Given the description of an element on the screen output the (x, y) to click on. 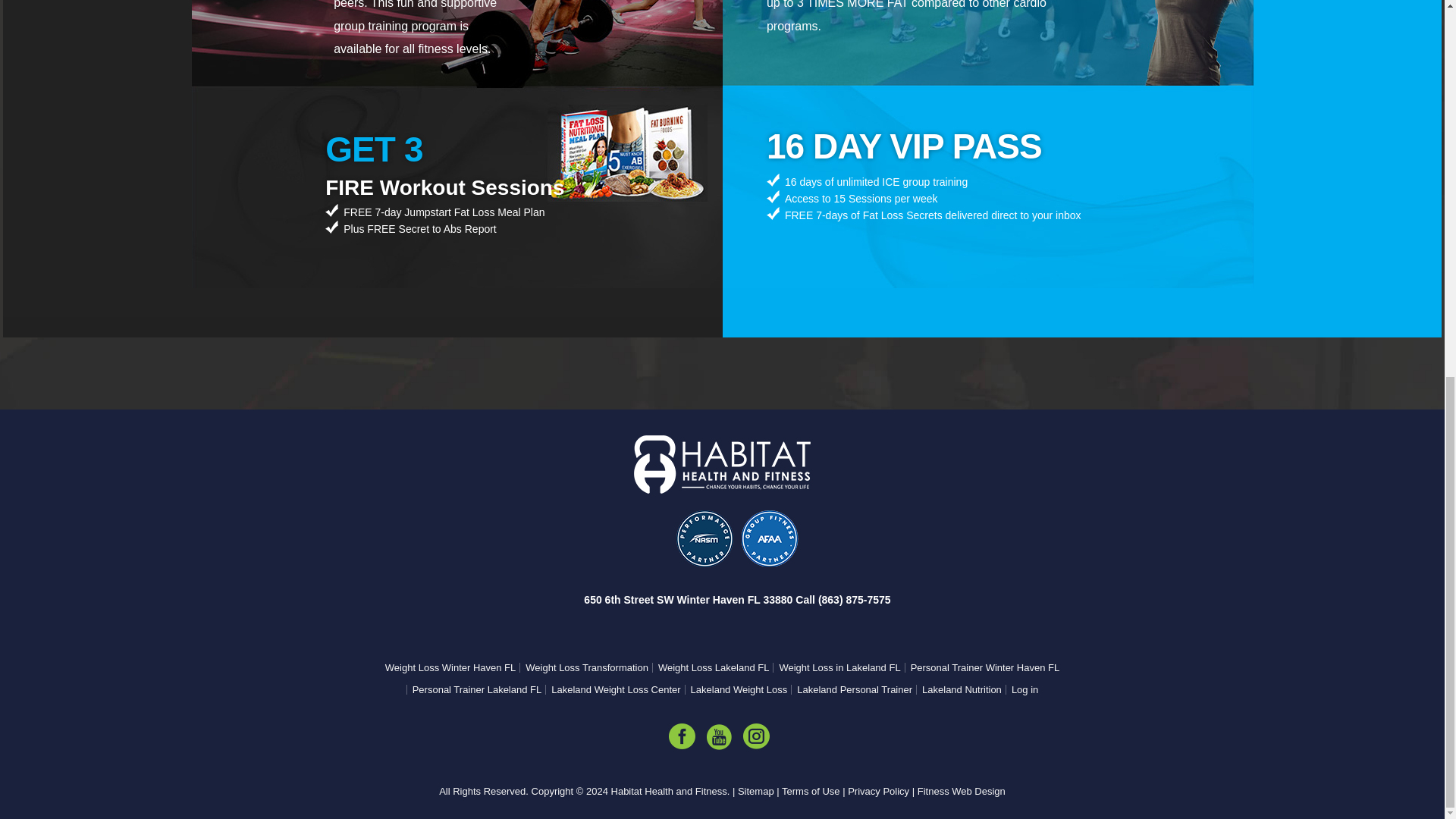
Weight Loss in Lakeland FL (836, 667)
Weight Loss Winter Haven FL (450, 667)
Terms of Use (810, 790)
Log in (1022, 689)
Habitat Health and Fitness (668, 790)
Weight Loss Lakeland FL (710, 667)
Weight Loss Transformation (583, 667)
Lakeland Weight Loss Center (611, 689)
Sitemap (756, 790)
Personal Trainer Lakeland FL (473, 689)
